Given the description of an element on the screen output the (x, y) to click on. 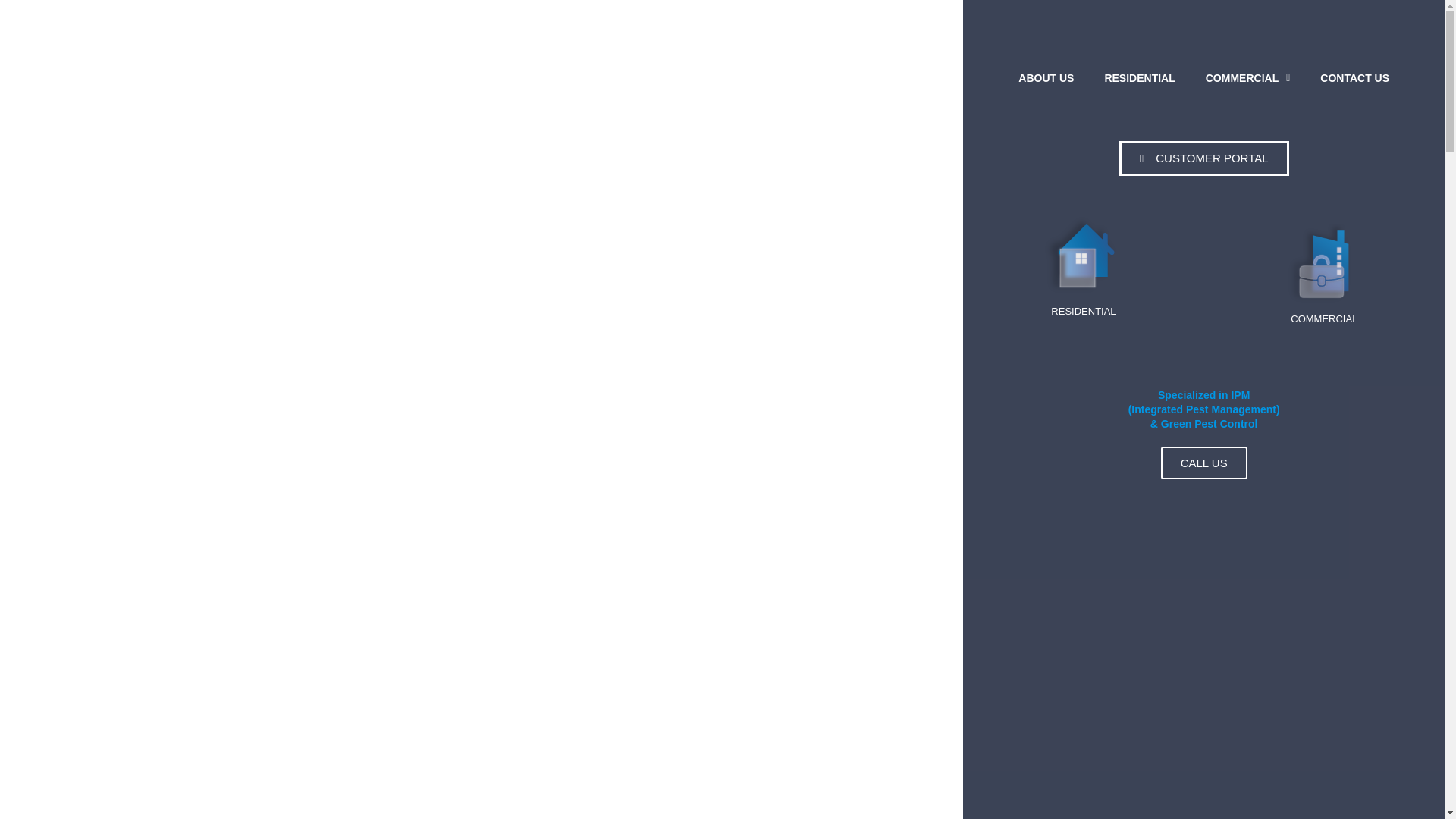
RESIDENTIAL (1083, 264)
contact us (1354, 77)
RESIDENTIAL (1139, 77)
home (1139, 77)
about us (1046, 77)
COMMERCIAL (1248, 77)
CONTACT US (1354, 77)
ABOUT US (1046, 77)
CALL US (1203, 462)
COMMERCIAL (1324, 268)
CUSTOMER PORTAL (1203, 158)
